Given the description of an element on the screen output the (x, y) to click on. 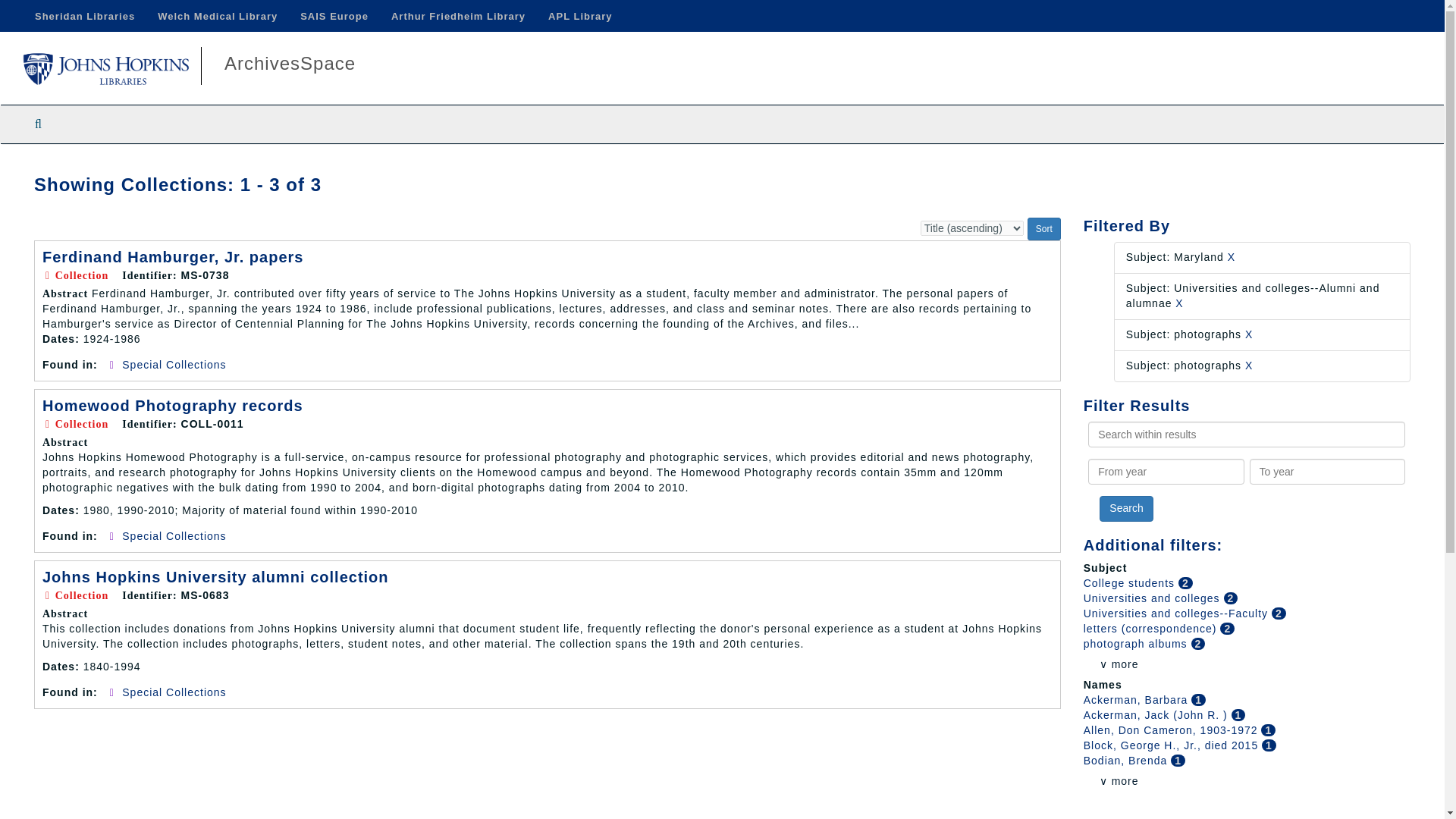
APL Library (580, 15)
Filter By 'photograph albums' (1137, 644)
Filter By 'Universities and colleges--Faculty' (1177, 613)
College students (1130, 582)
Filter By 'College students' (1130, 582)
Arthur Friedheim Library (458, 15)
Universities and colleges--Faculty (1177, 613)
Sort (1044, 228)
Special Collections (173, 364)
Search (1126, 508)
Special Collections (173, 535)
Homewood Photography records (172, 405)
Welch Medical Library (217, 15)
Sort (1044, 228)
SAIS Europe (334, 15)
